Given the description of an element on the screen output the (x, y) to click on. 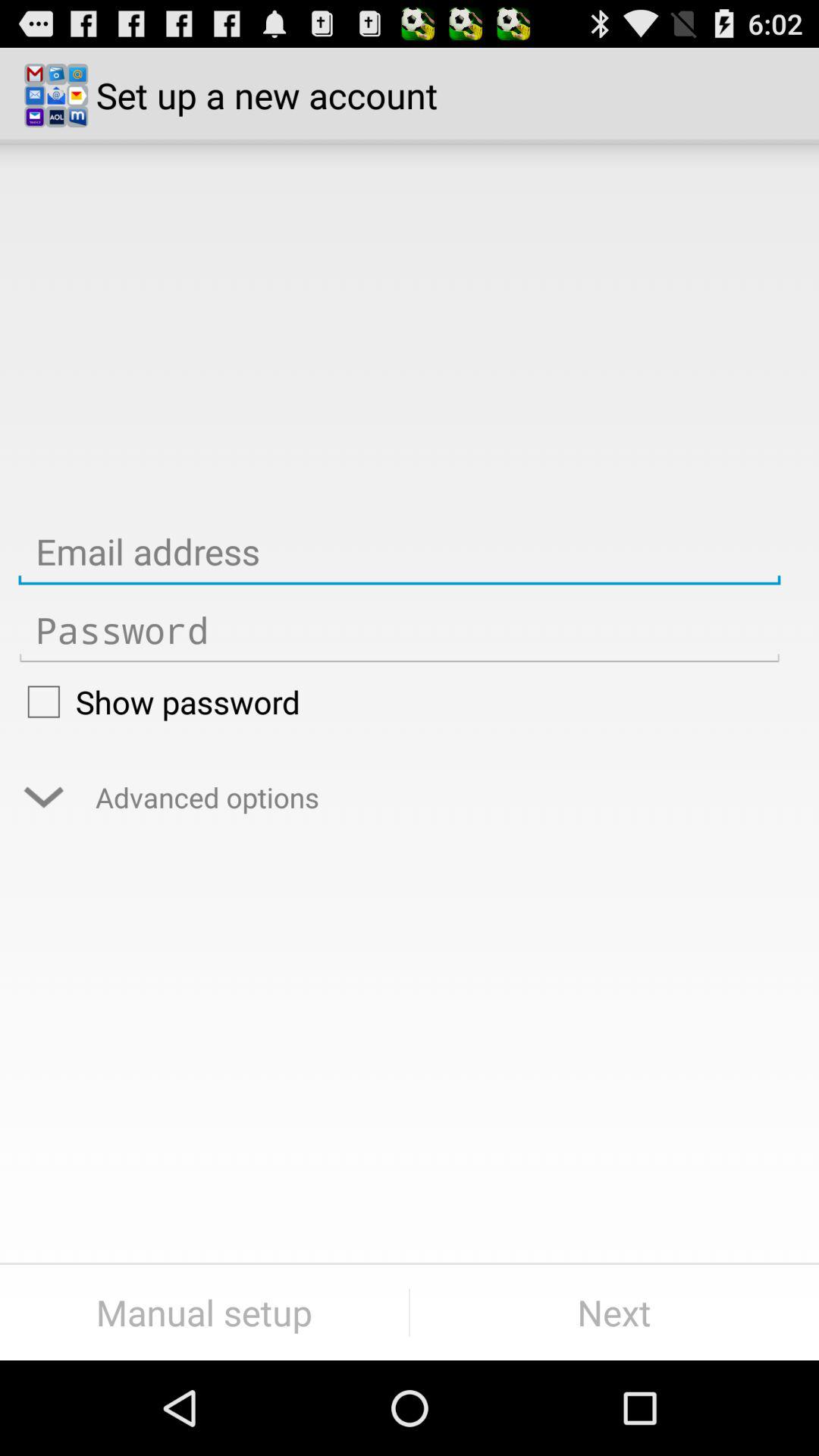
press the manual setup (204, 1312)
